Given the description of an element on the screen output the (x, y) to click on. 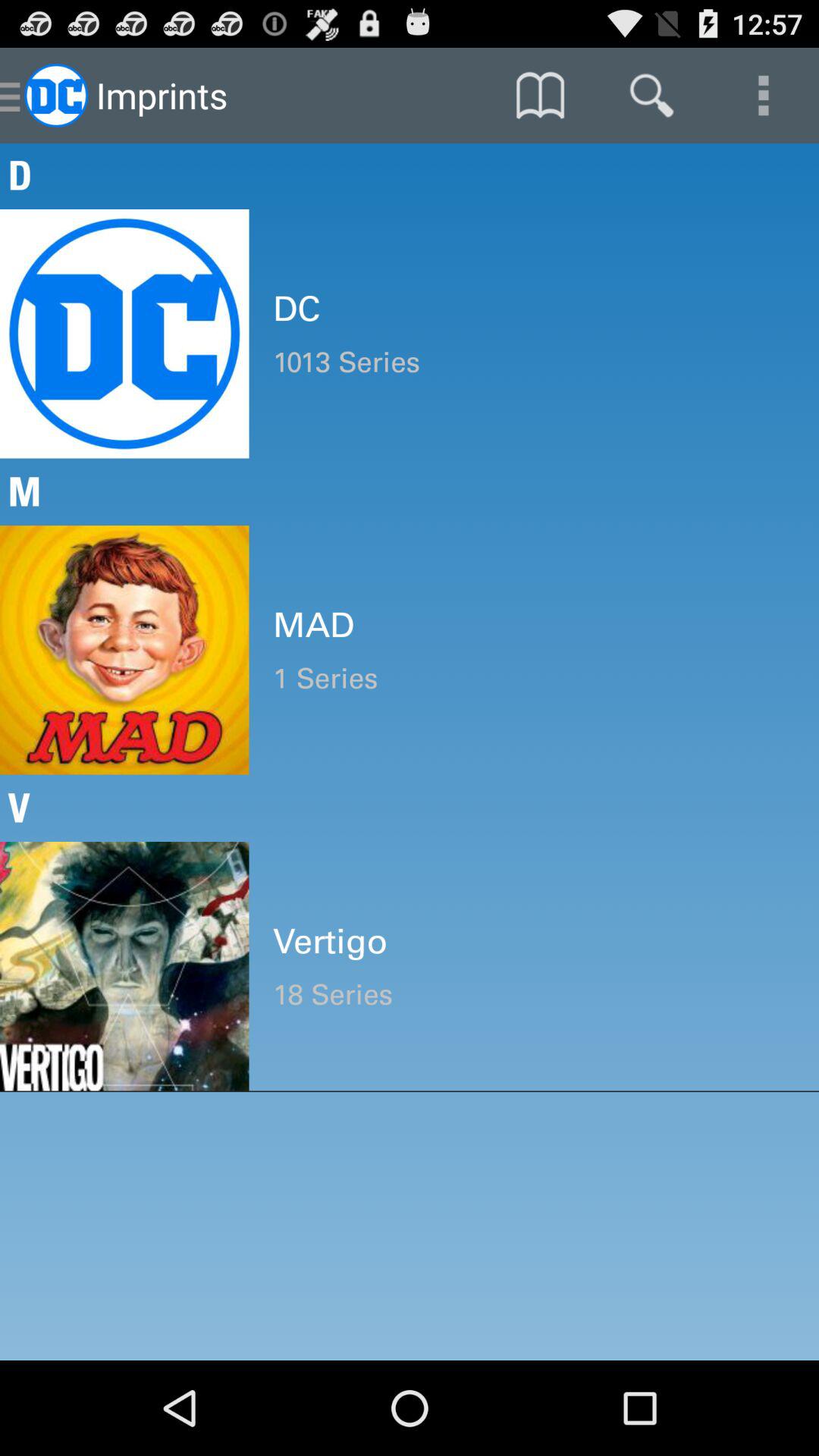
jump to the 1013 series (534, 362)
